Given the description of an element on the screen output the (x, y) to click on. 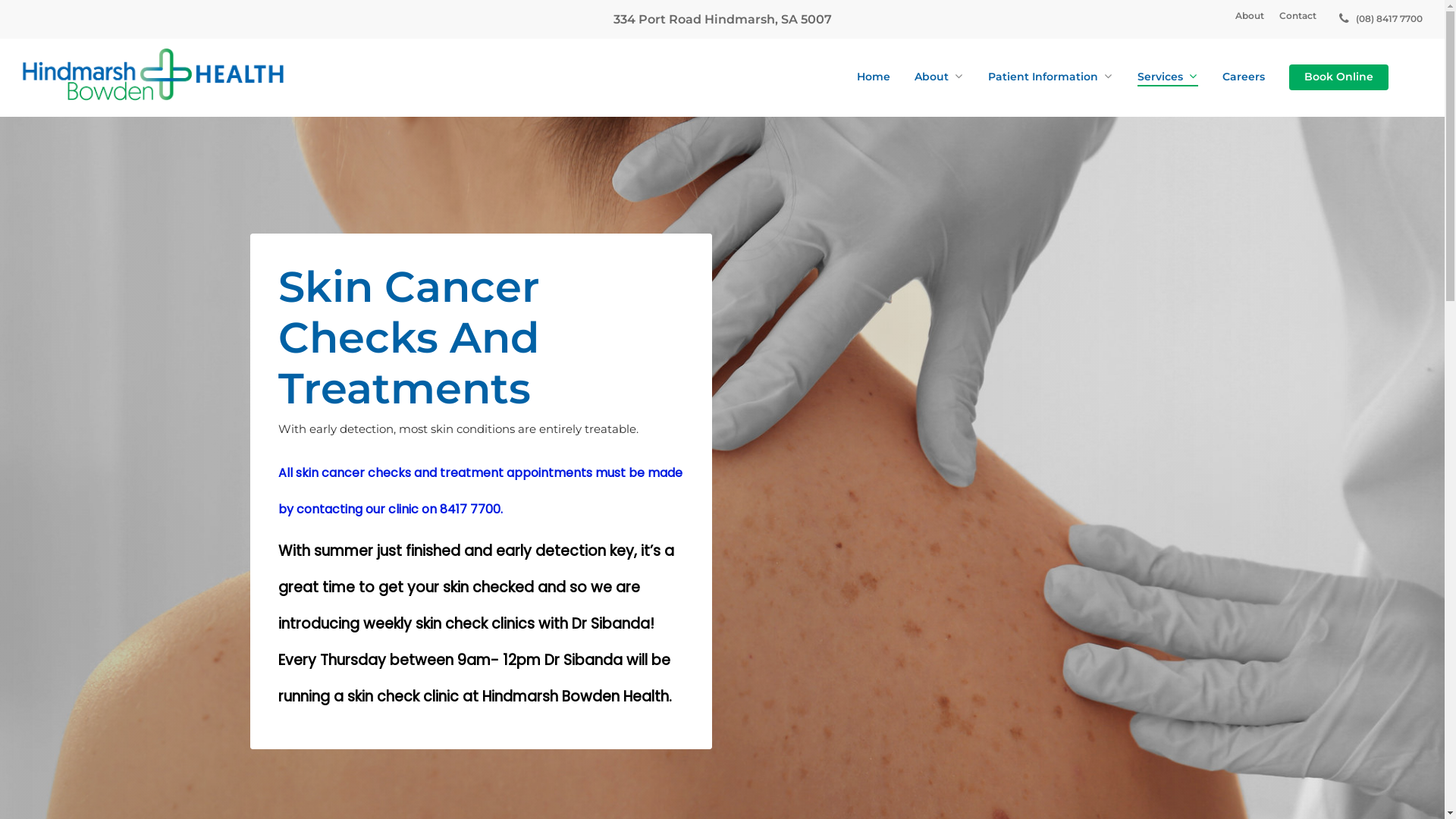
Book Online Element type: text (1338, 76)
(08) 8417 7700 Element type: text (1376, 19)
About Element type: text (1249, 15)
Patient Information Element type: text (1050, 76)
Home Element type: text (873, 76)
About Element type: text (938, 76)
Careers Element type: text (1243, 76)
Services Element type: text (1167, 76)
Contact Element type: text (1297, 15)
